Given the description of an element on the screen output the (x, y) to click on. 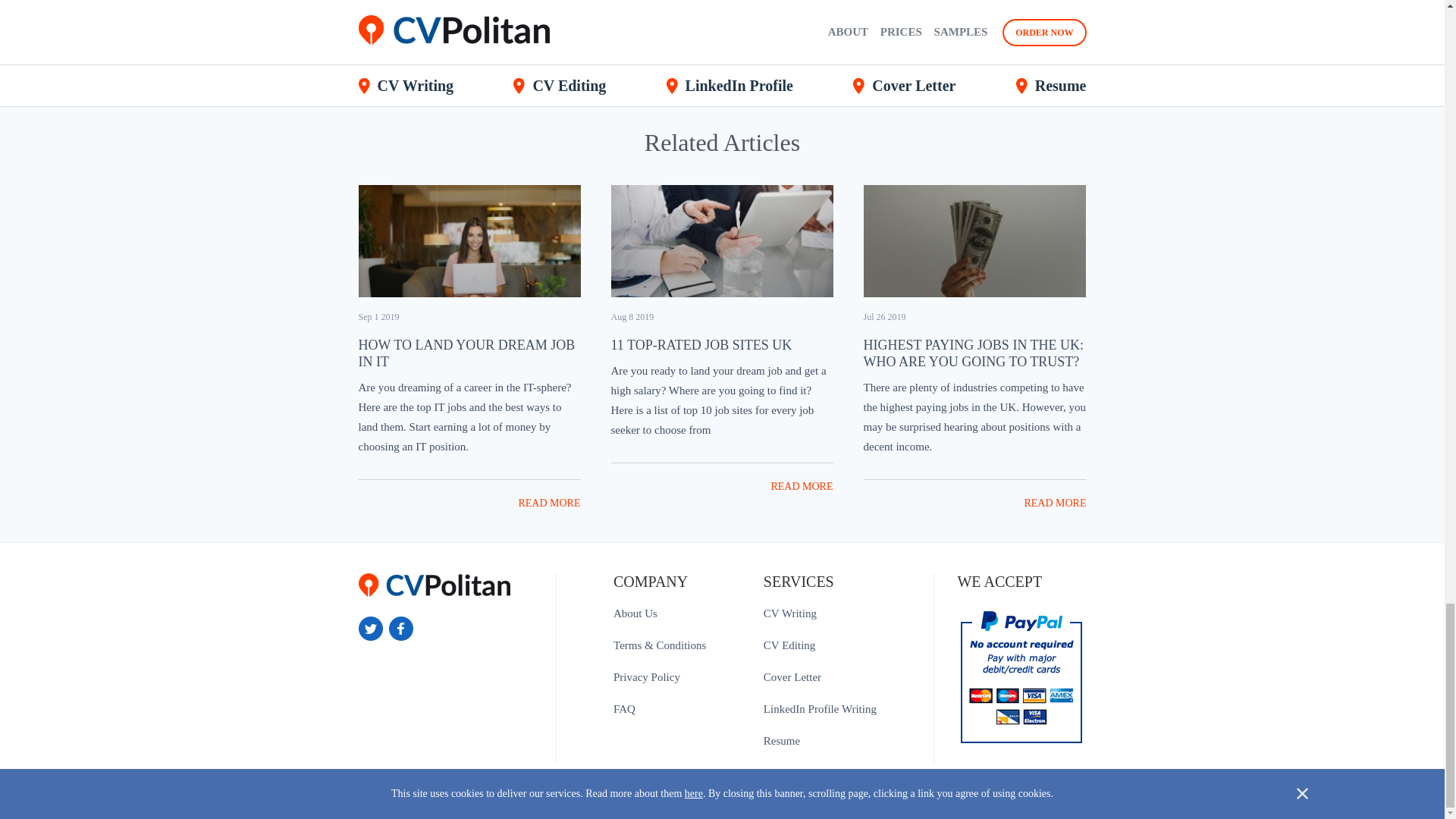
11 TOP-RATED JOB SITES UK (701, 344)
READ MORE (548, 502)
READ MORE (801, 486)
HOW TO LAND YOUR DREAM JOB IN IT (466, 353)
I Hate My Job, What Should I Do? (628, 24)
hate your job (628, 24)
HIGHEST PAYING JOBS IN THE UK: WHO ARE YOU GOING TO TRUST? (973, 353)
